Given the description of an element on the screen output the (x, y) to click on. 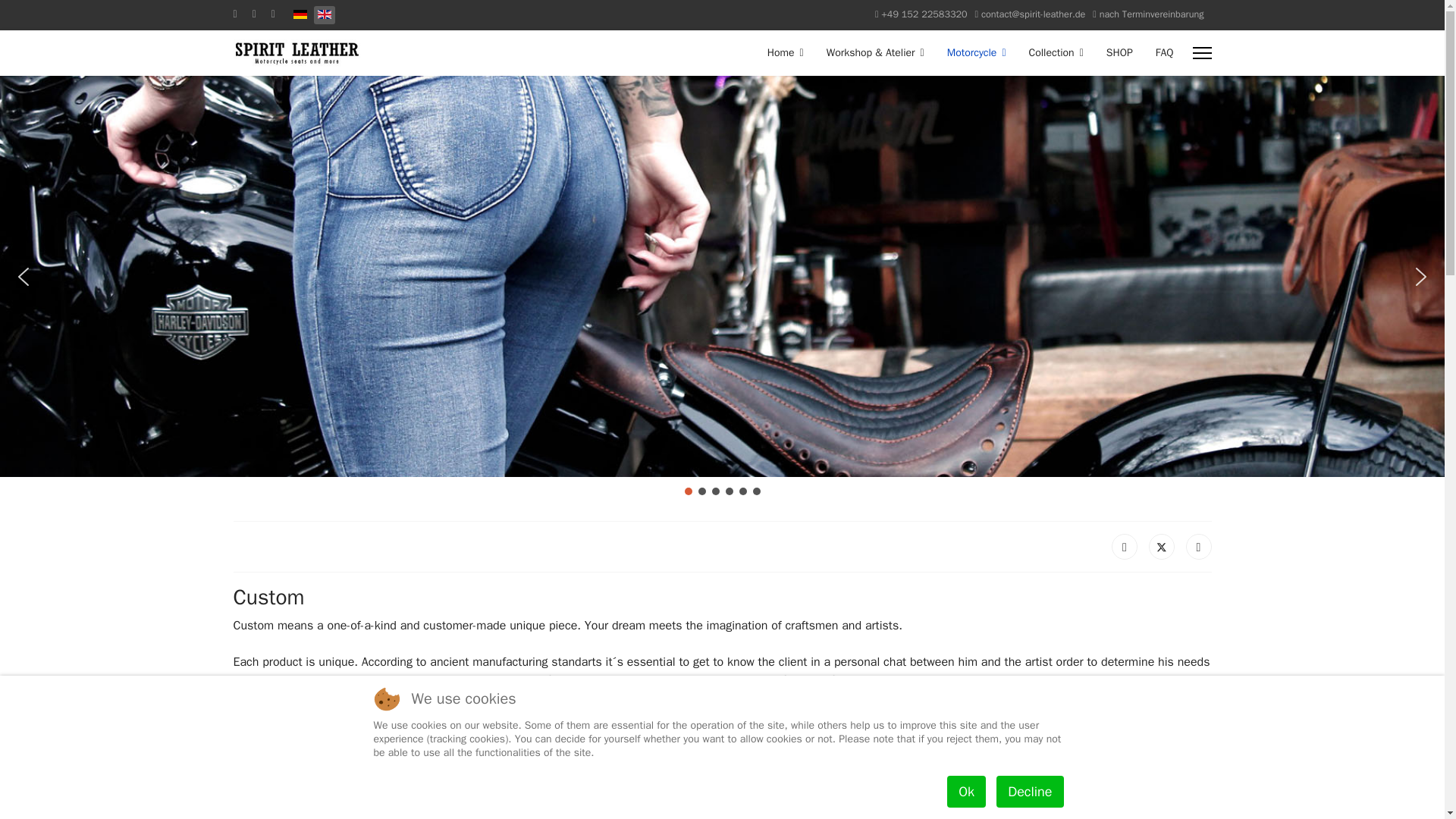
SHOP (1119, 53)
Collection (1055, 53)
Home (785, 53)
LinkedIn (1198, 546)
Motorcycle (976, 53)
Facebook (1124, 546)
